Given the description of an element on the screen output the (x, y) to click on. 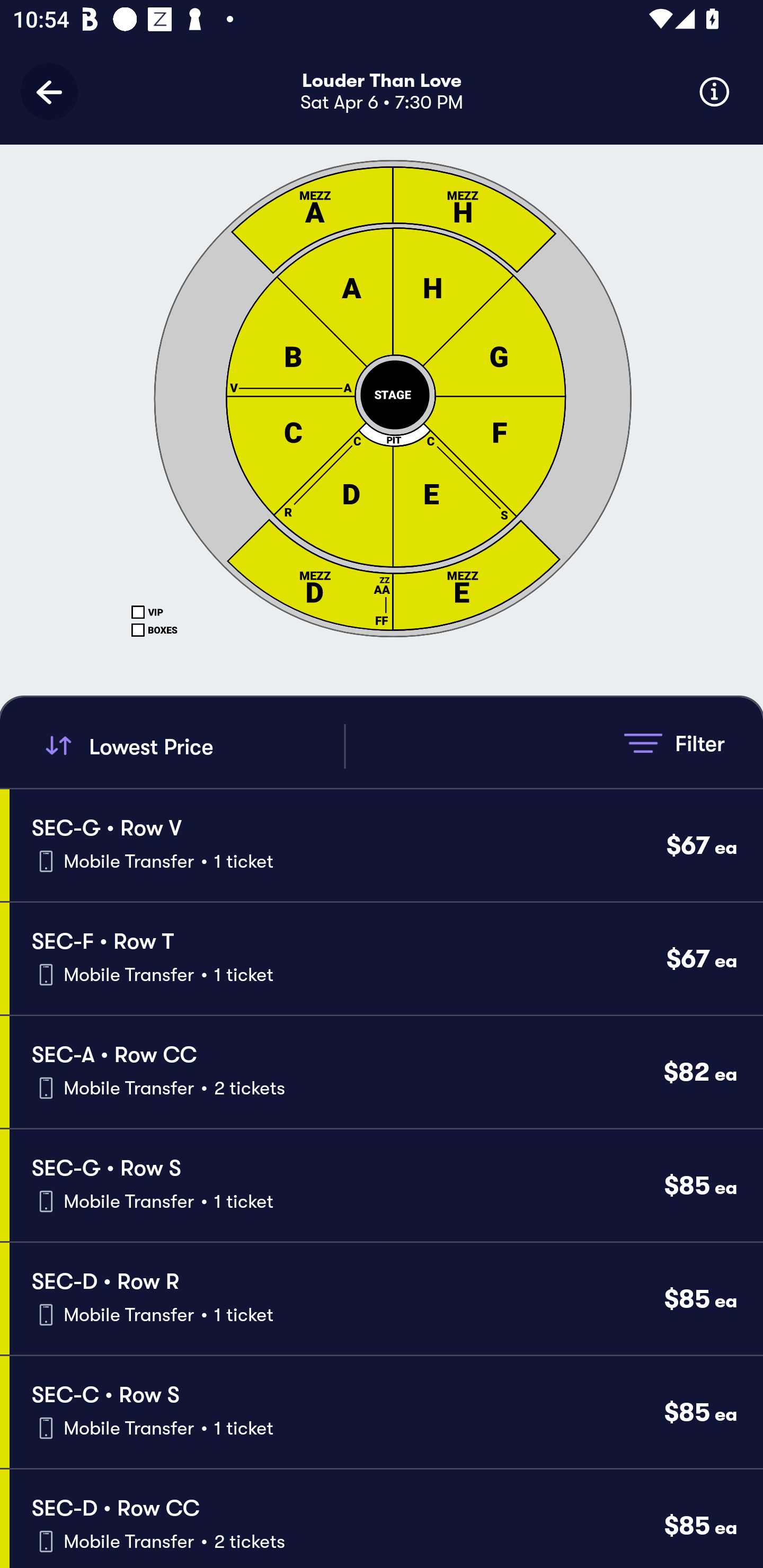
Lowest Price (191, 746)
Filter (674, 743)
SEC-G • Row V Mobile Transfer • 1 ticket $67 ea (386, 844)
SEC-F • Row T Mobile Transfer • 1 ticket $67 ea (386, 958)
SEC-A • Row CC Mobile Transfer • 2 tickets $82 ea (386, 1071)
SEC-G • Row S Mobile Transfer • 1 ticket $85 ea (386, 1184)
SEC-D • Row R Mobile Transfer • 1 ticket $85 ea (386, 1298)
SEC-C • Row S Mobile Transfer • 1 ticket $85 ea (386, 1411)
SEC-D • Row CC Mobile Transfer • 2 tickets $85 ea (386, 1518)
